Given the description of an element on the screen output the (x, y) to click on. 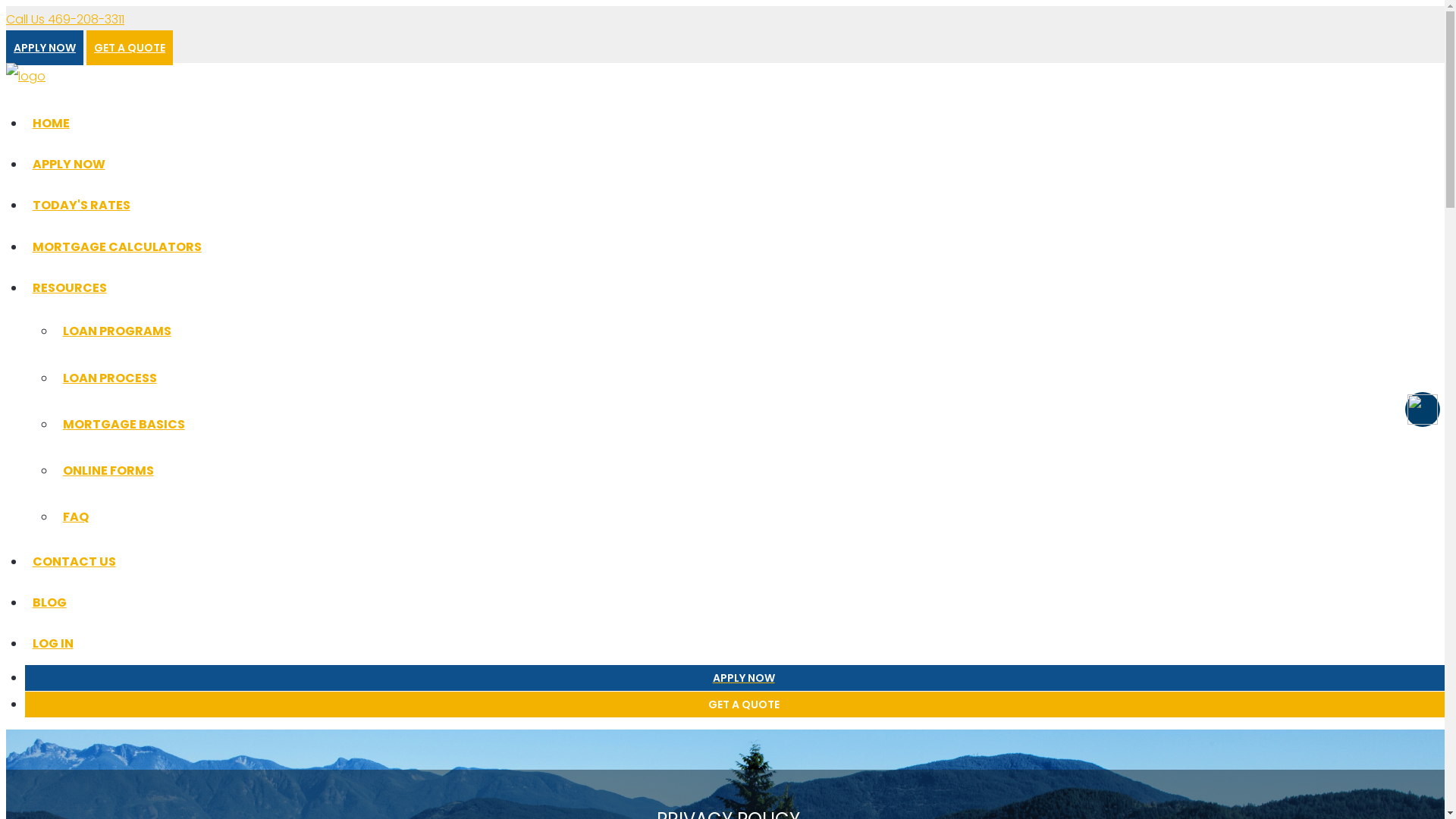
Call Us 469-208-3311 Element type: text (65, 19)
GET A QUOTE Element type: text (129, 47)
APPLY NOW Element type: text (44, 47)
